Given the description of an element on the screen output the (x, y) to click on. 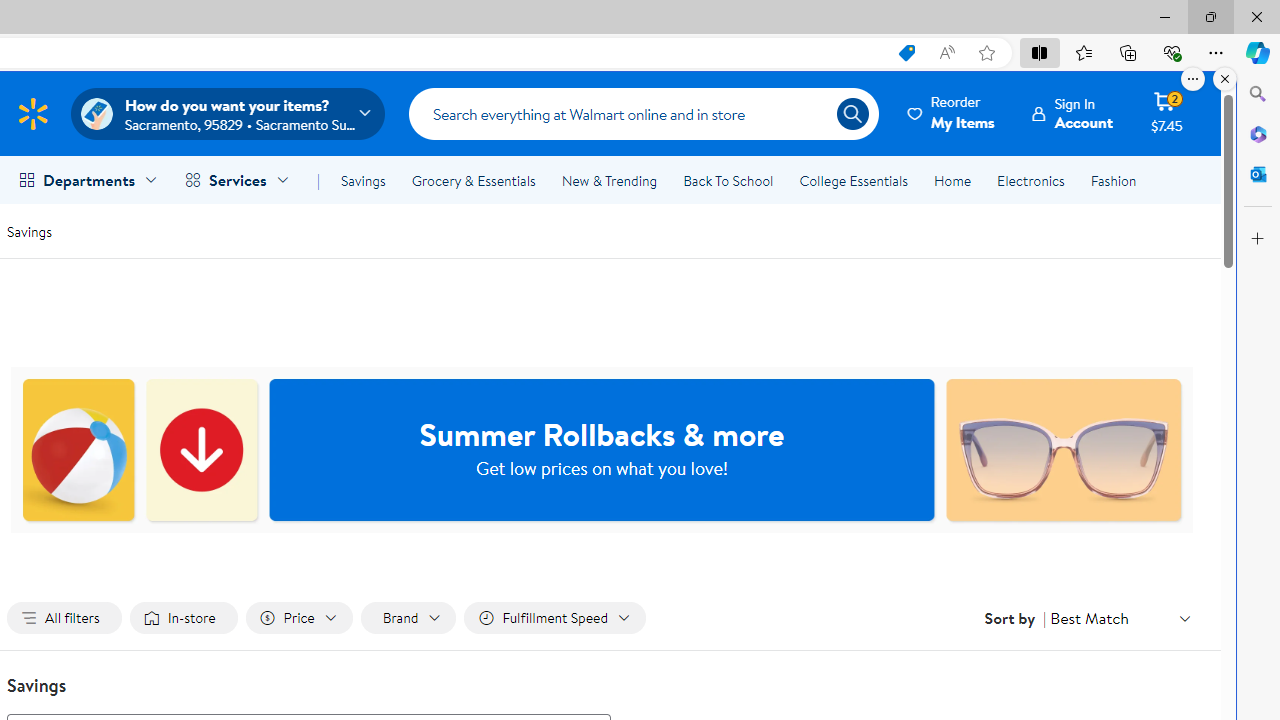
College Essentials (852, 180)
Filter by Price not applied, activate to change (298, 618)
All filters none applied, activate to change (63, 618)
Grocery & Essentials (473, 180)
Savings (29, 230)
Walmart Homepage (32, 113)
Reorder My Items (952, 113)
Fashion (1113, 180)
